Given the description of an element on the screen output the (x, y) to click on. 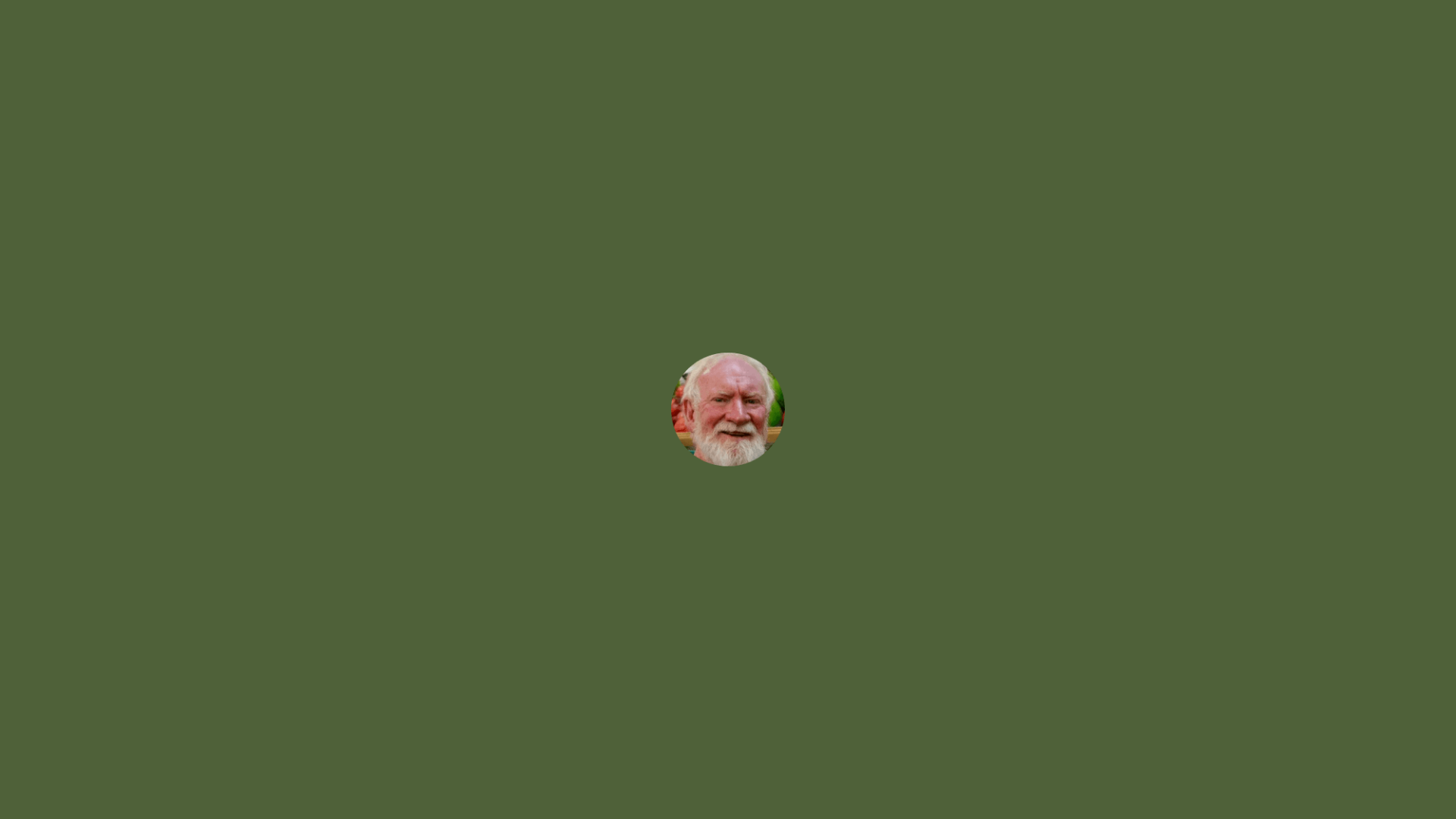
ABOUT Element type: text (1044, 35)
FRUIT & VEG BOXES Element type: text (882, 35)
HOME Element type: text (700, 35)
ORDER ONLINE Element type: text (728, 401)
FAQS Element type: text (981, 35)
PRODUCE Element type: text (773, 35)
CONTACT Element type: text (1119, 35)
